Given the description of an element on the screen output the (x, y) to click on. 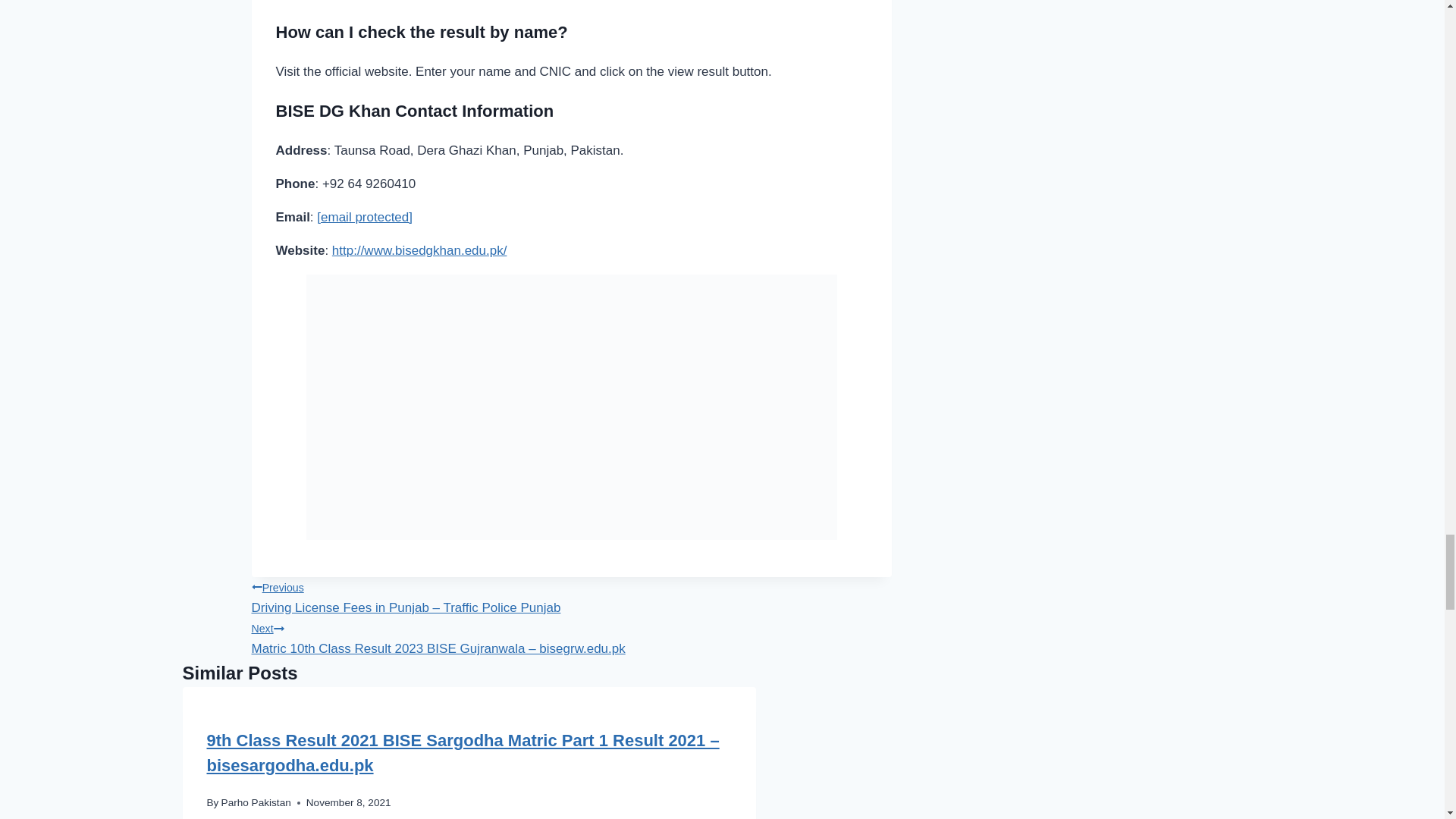
Parho Pakistan (256, 802)
